Given the description of an element on the screen output the (x, y) to click on. 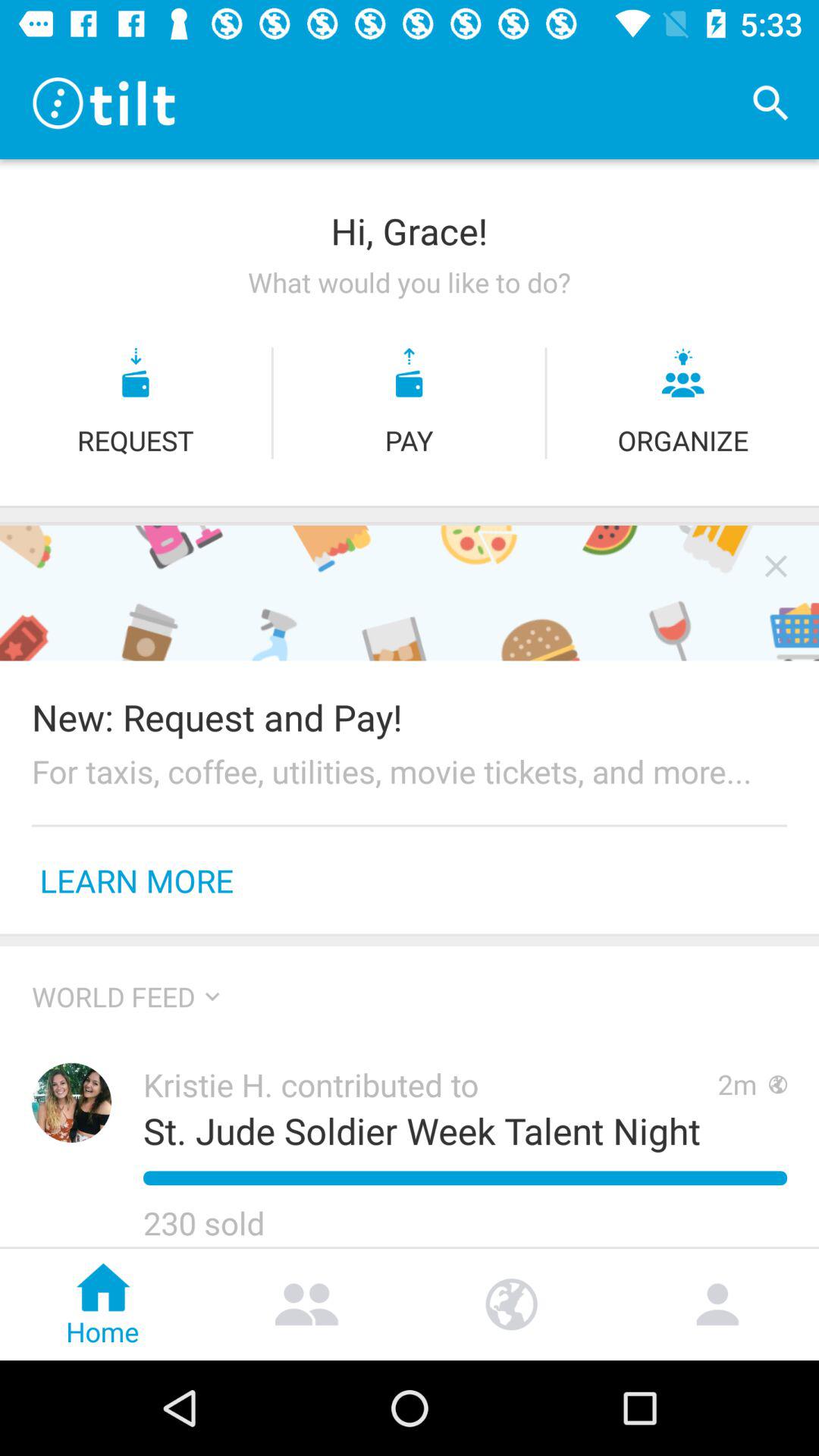
click icon above new request and icon (776, 566)
